Given the description of an element on the screen output the (x, y) to click on. 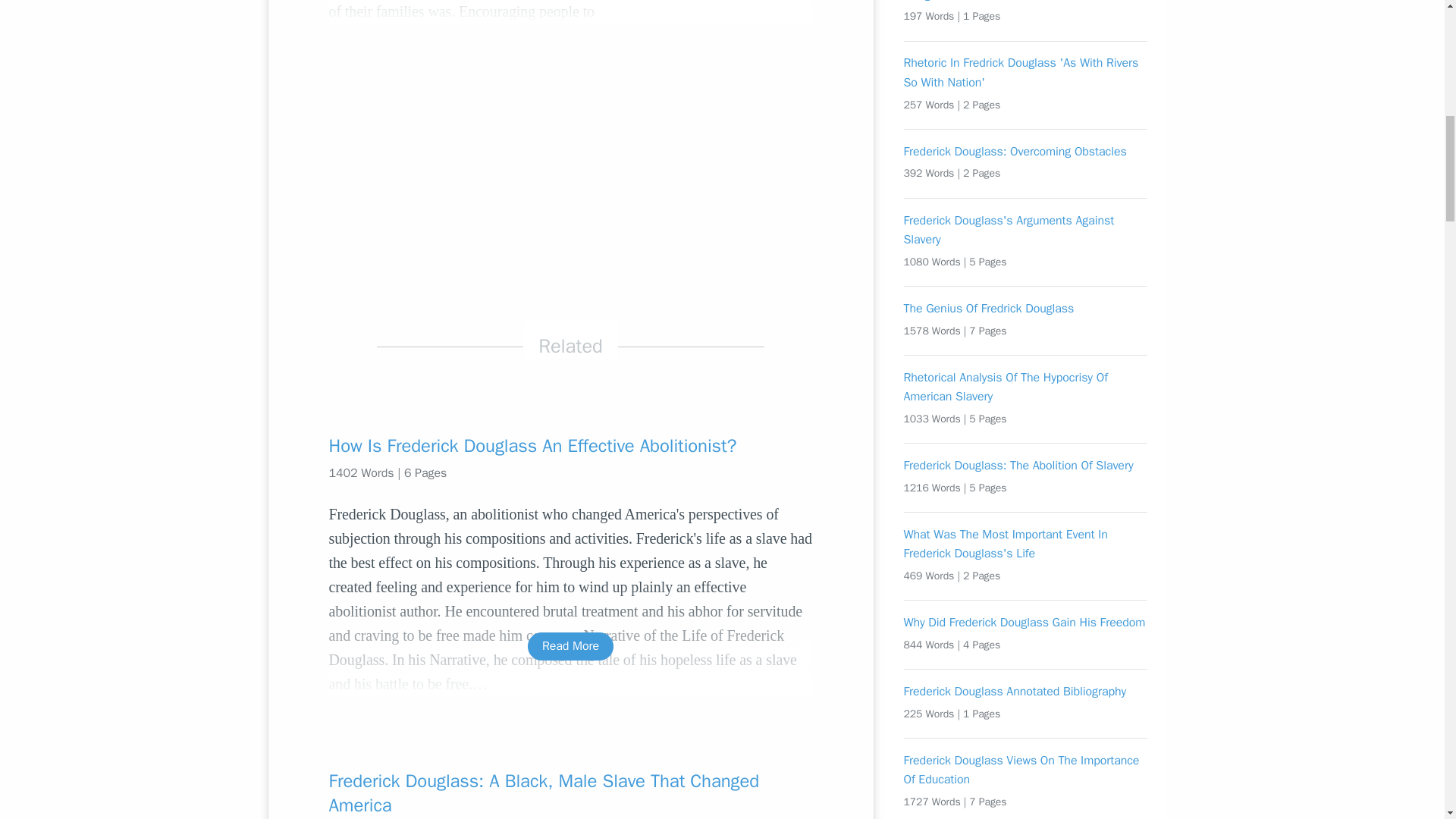
How Is Frederick Douglass An Effective Abolitionist? (570, 445)
Read More (569, 646)
Frederick Douglass: A Black, Male Slave That Changed America (570, 793)
